Given the description of an element on the screen output the (x, y) to click on. 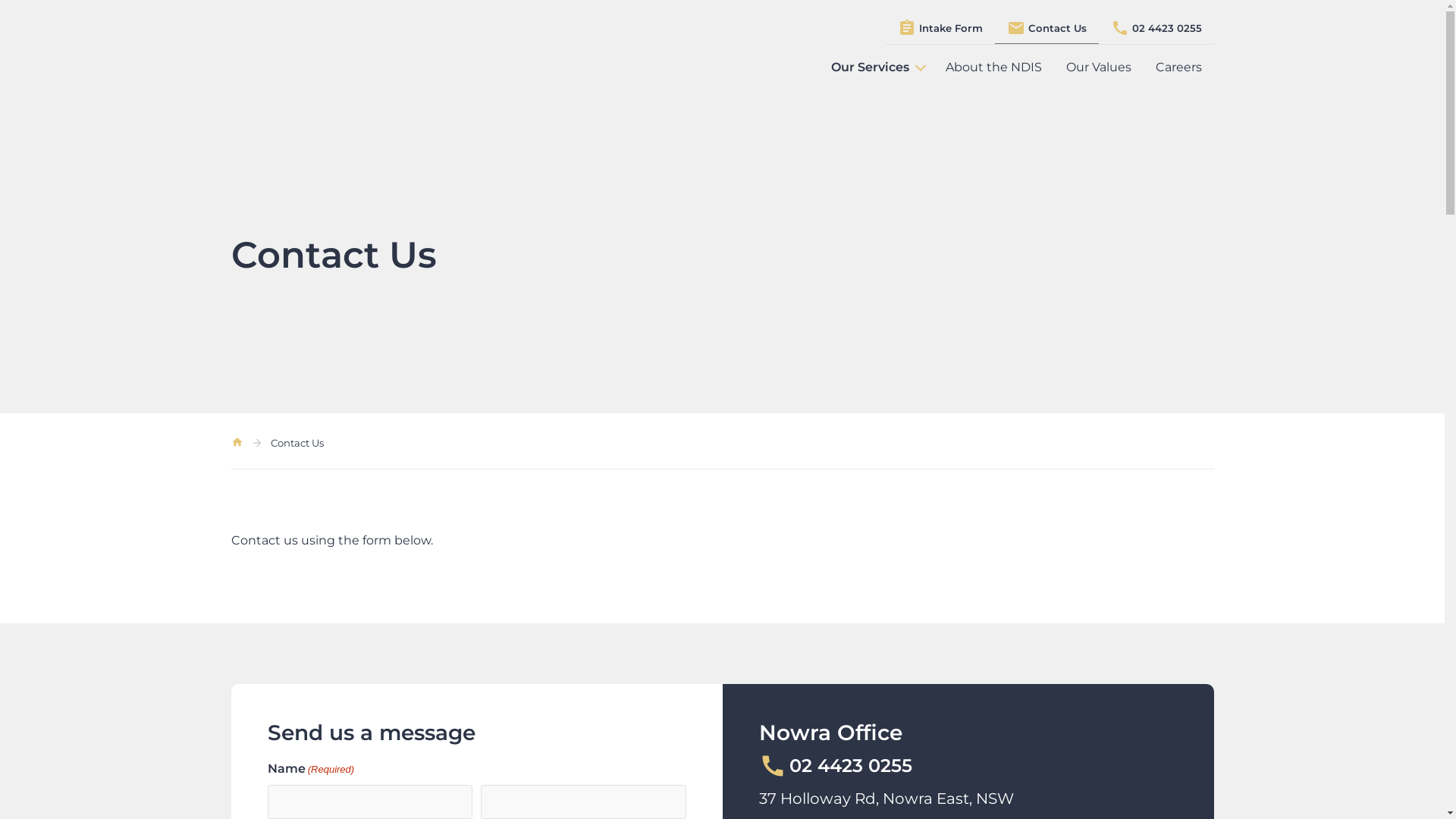
call
02 4423 0255 Element type: text (834, 765)
assignment
Intake Form Element type: text (939, 27)
mail
Contact Us Element type: text (1046, 27)
About the NDIS Element type: text (992, 67)
Our Services Element type: text (876, 67)
Our Values Element type: text (1098, 67)
call
02 4423 0255 Element type: text (1155, 27)
Careers Element type: text (1178, 67)
home Element type: text (236, 444)
